Given the description of an element on the screen output the (x, y) to click on. 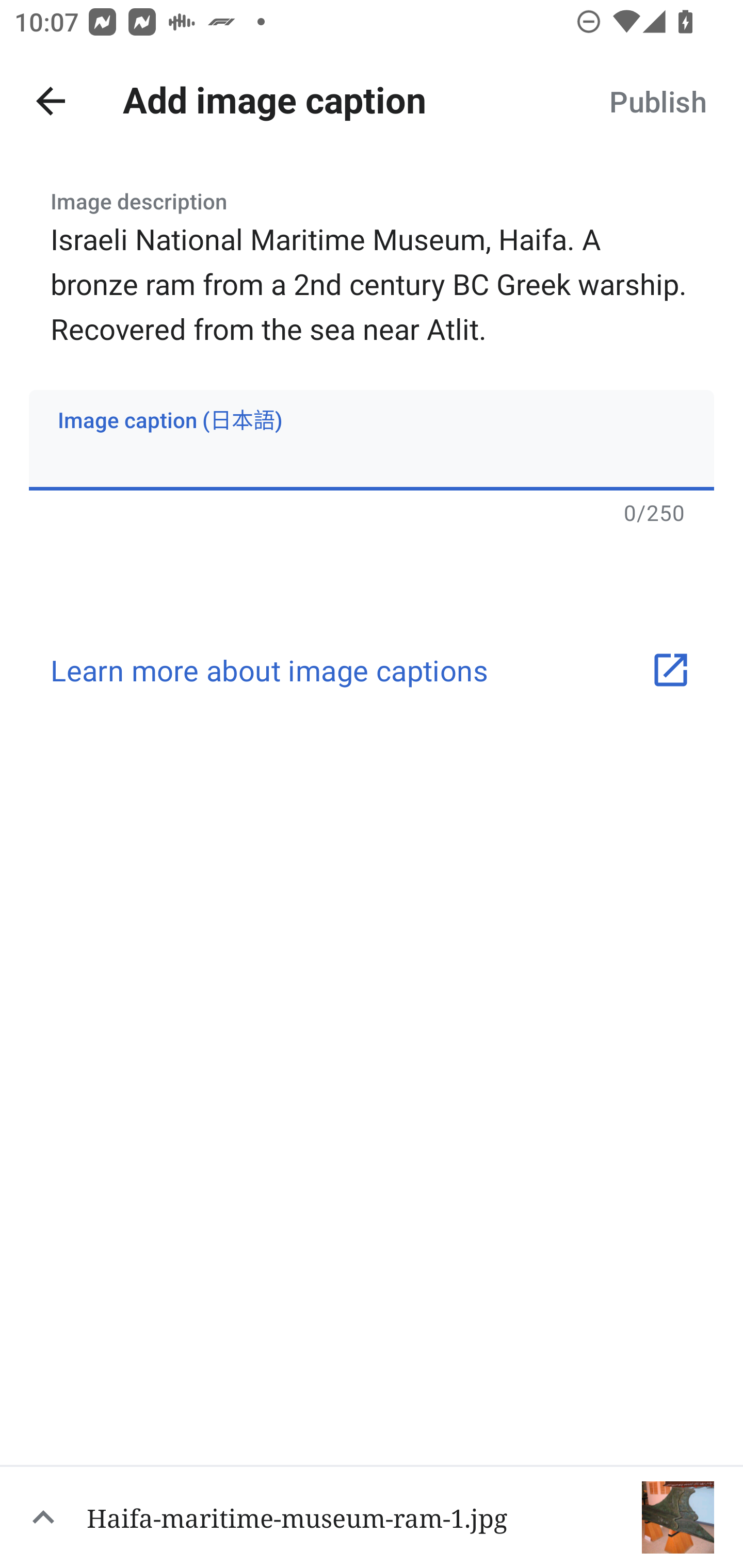
Cancel (50, 101)
Publish (657, 101)
Image caption (日本語) (371, 440)
Learn more about image captions (371, 670)
Haifa-maritime-museum-ram-1.jpg (371, 1516)
